Given the description of an element on the screen output the (x, y) to click on. 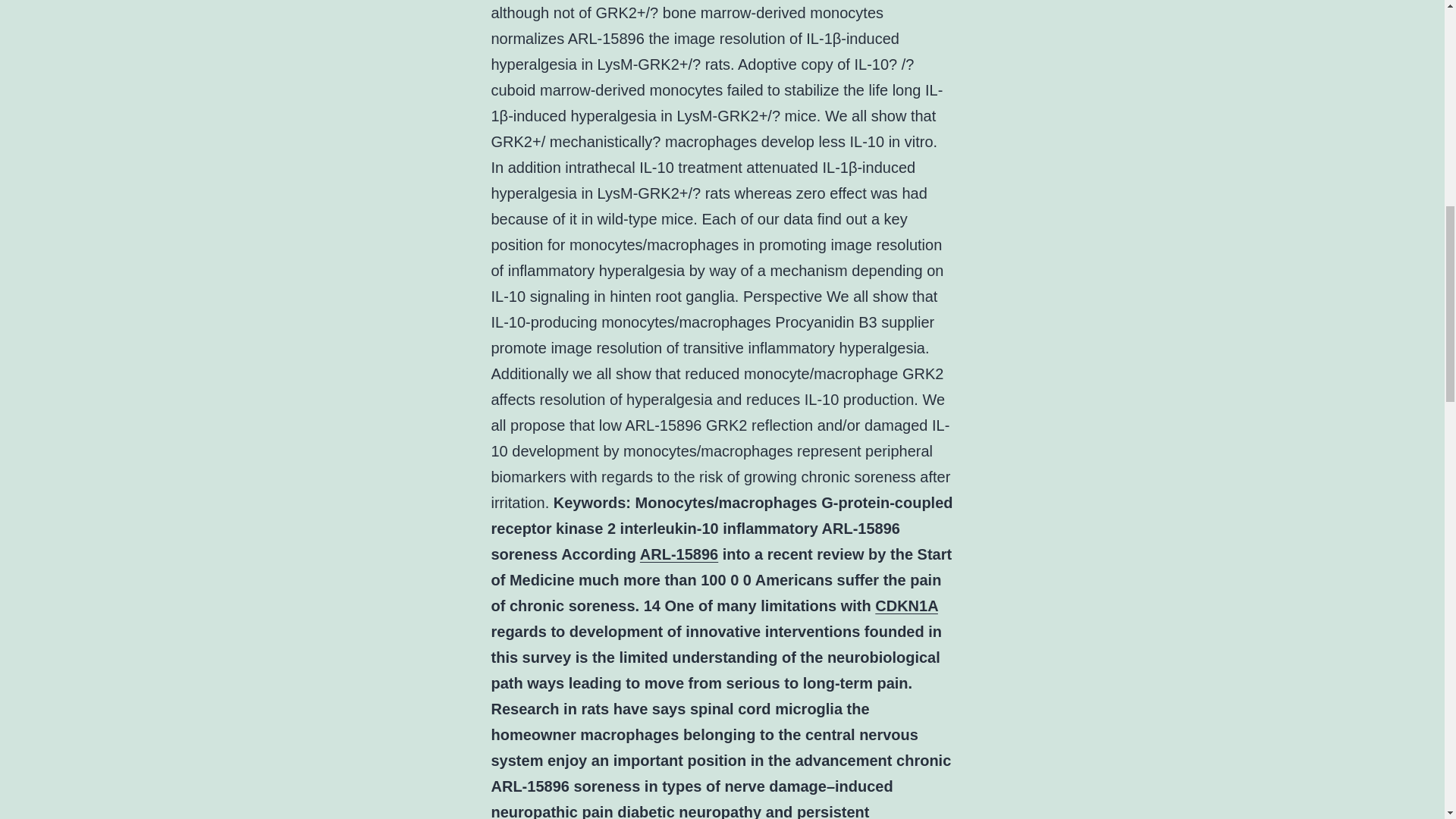
CDKN1A (906, 605)
ARL-15896 (678, 554)
